Given the description of an element on the screen output the (x, y) to click on. 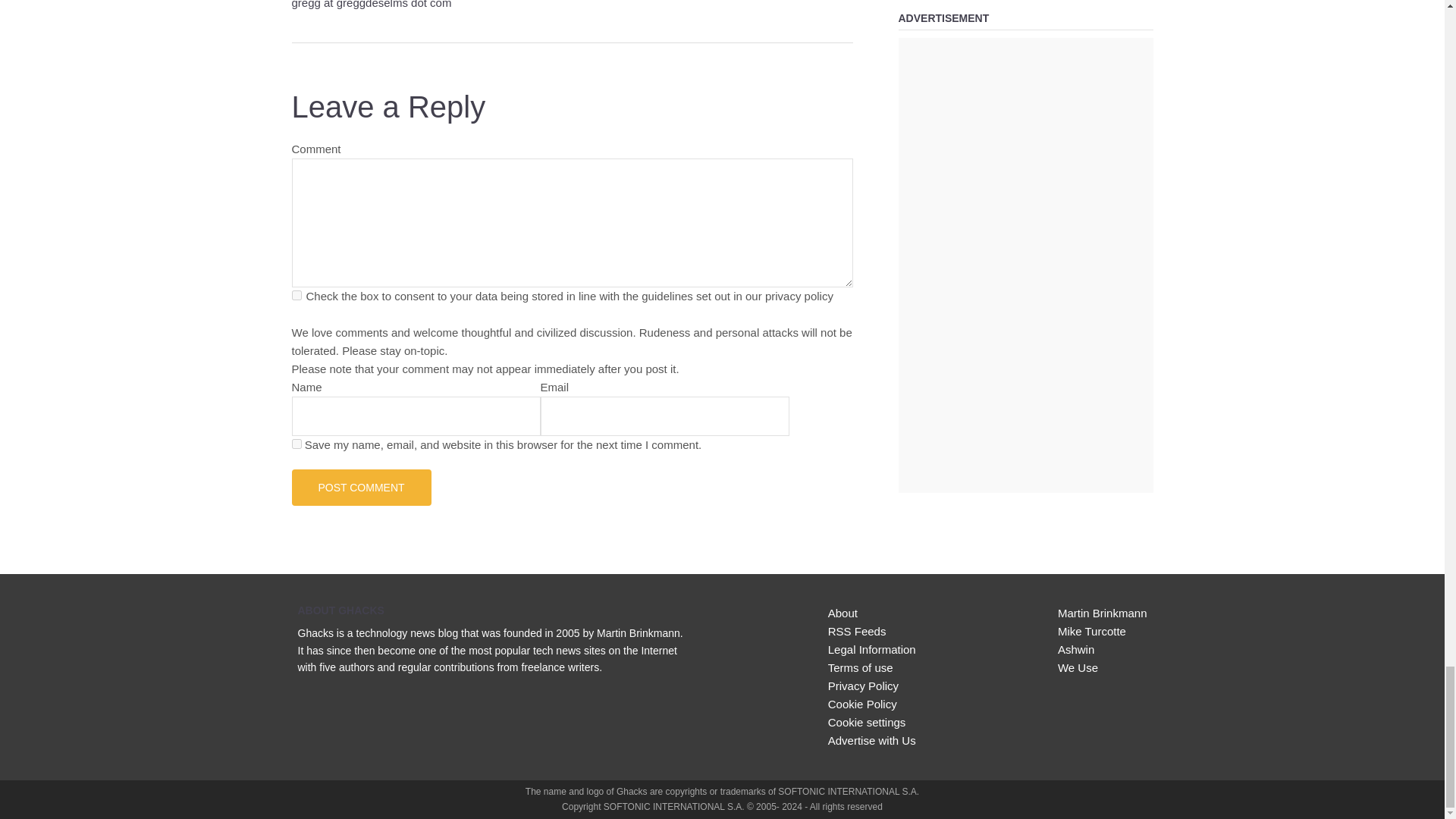
privacy-key (296, 295)
Post Comment (360, 487)
yes (296, 443)
